Given the description of an element on the screen output the (x, y) to click on. 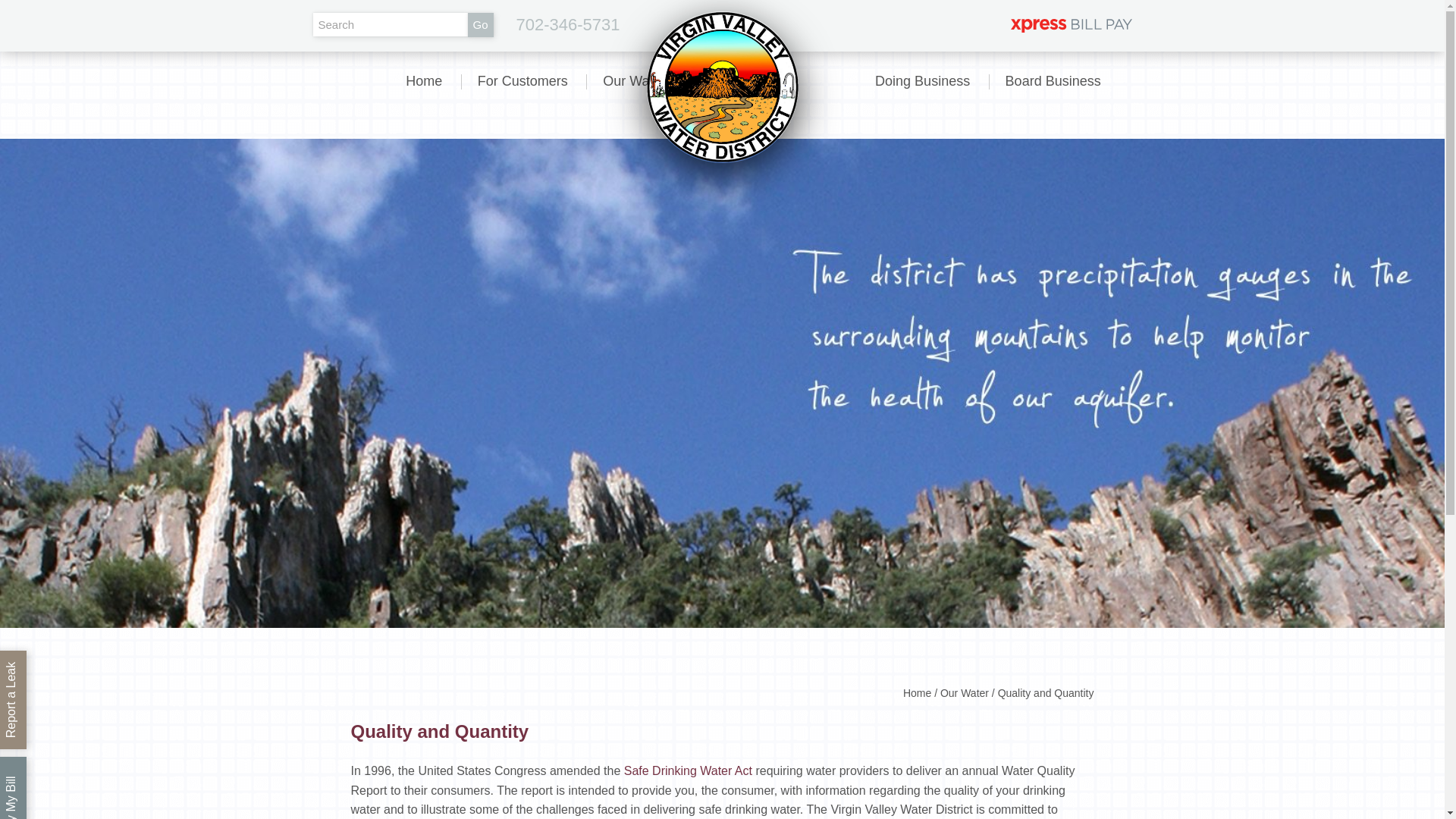
Home (423, 81)
702-346-5731 (568, 24)
Go (480, 24)
For Customers (522, 81)
Our Water (633, 81)
Go (480, 24)
